Given the description of an element on the screen output the (x, y) to click on. 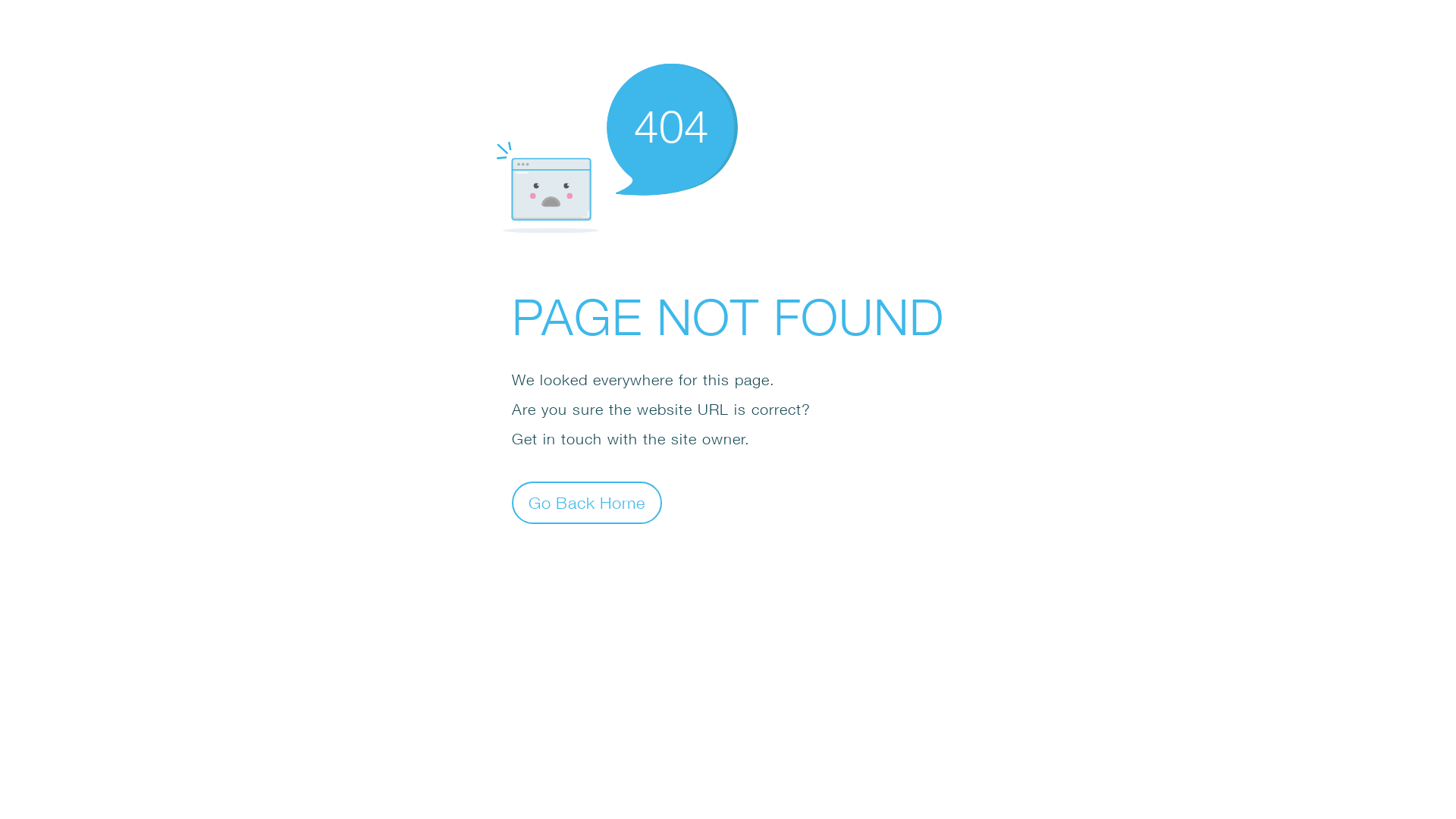
Go Back Home Element type: text (586, 502)
